Given the description of an element on the screen output the (x, y) to click on. 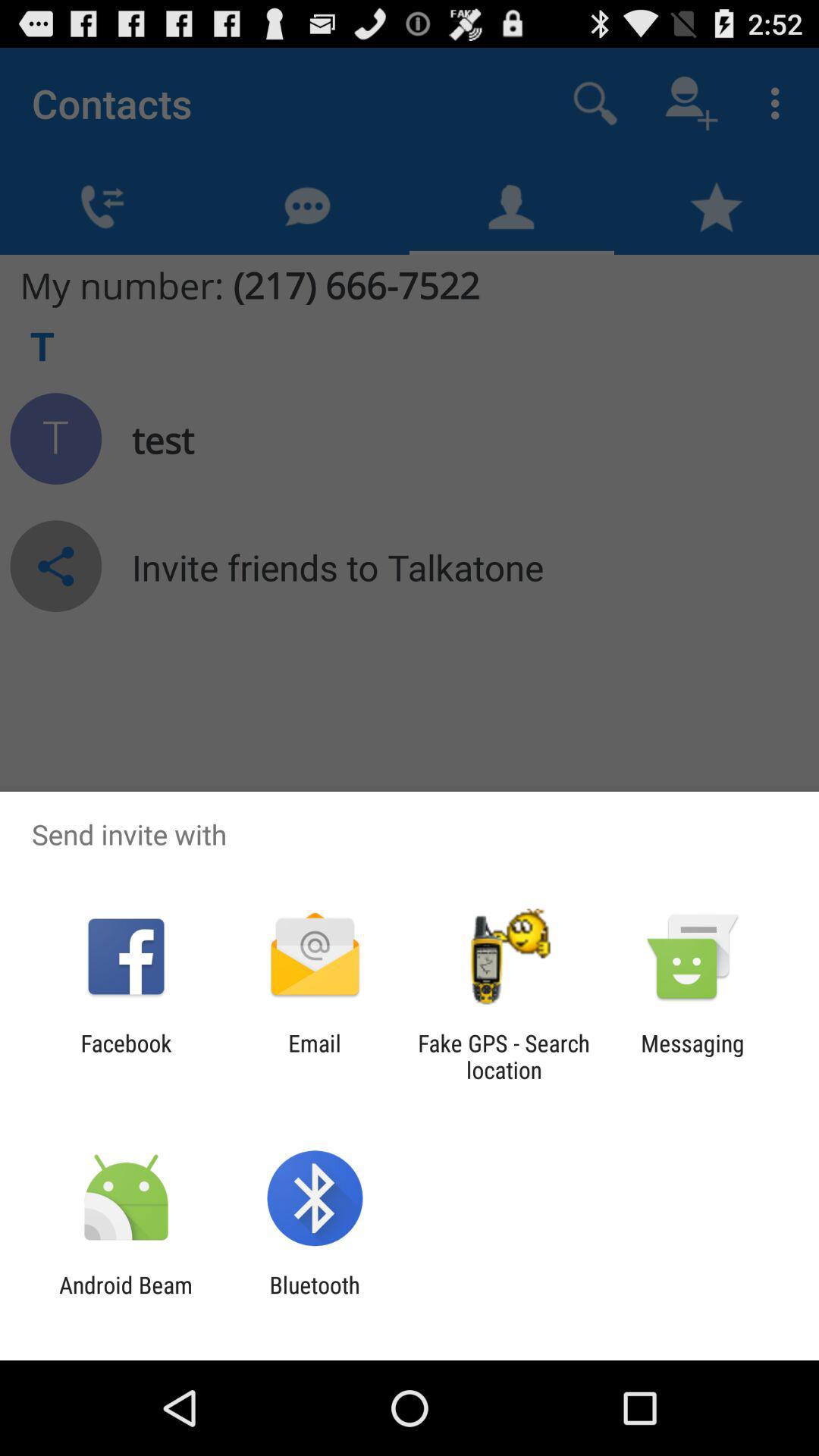
choose the android beam app (125, 1298)
